Given the description of an element on the screen output the (x, y) to click on. 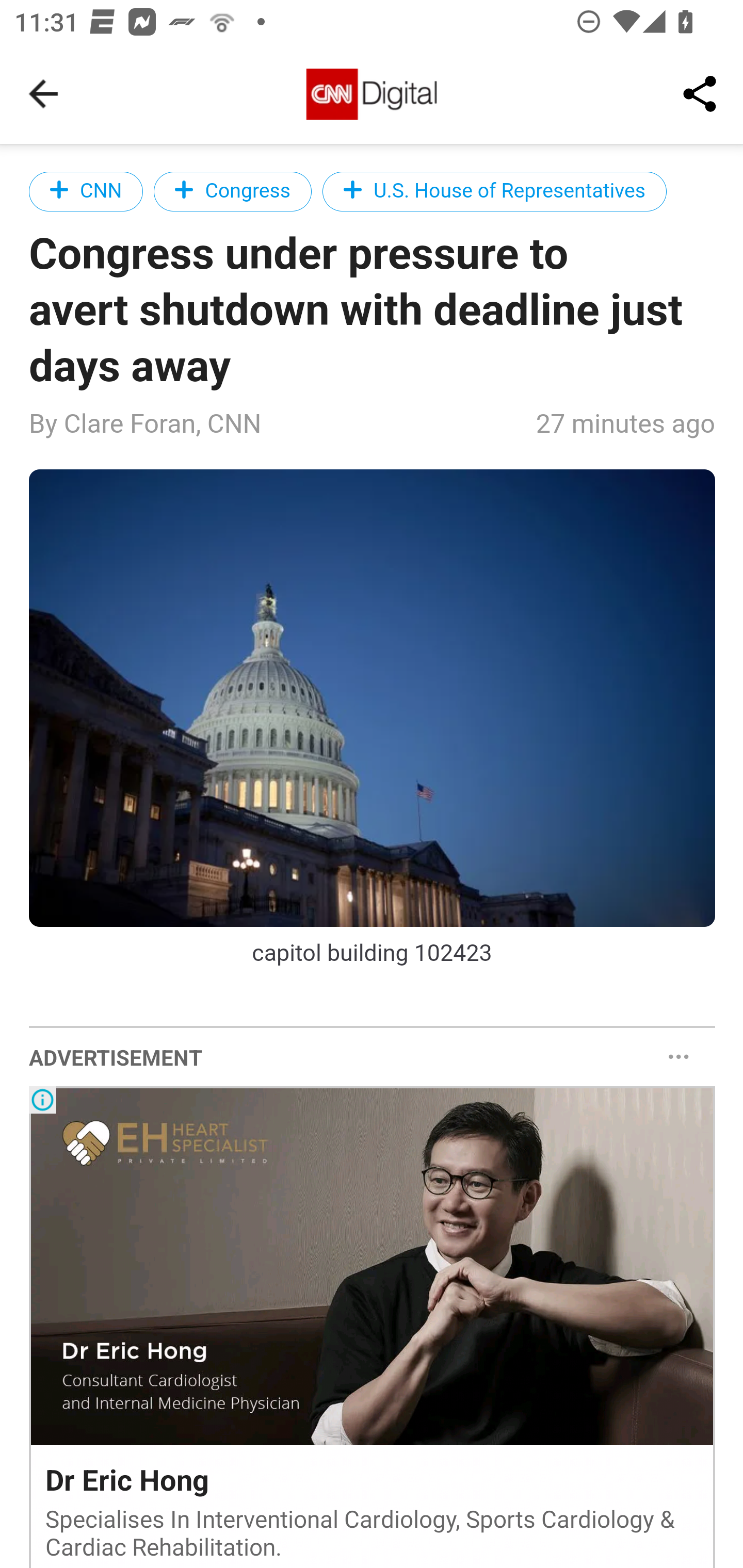
CNN (86, 191)
Congress (232, 191)
U.S. House of Representatives (494, 191)
